Given the description of an element on the screen output the (x, y) to click on. 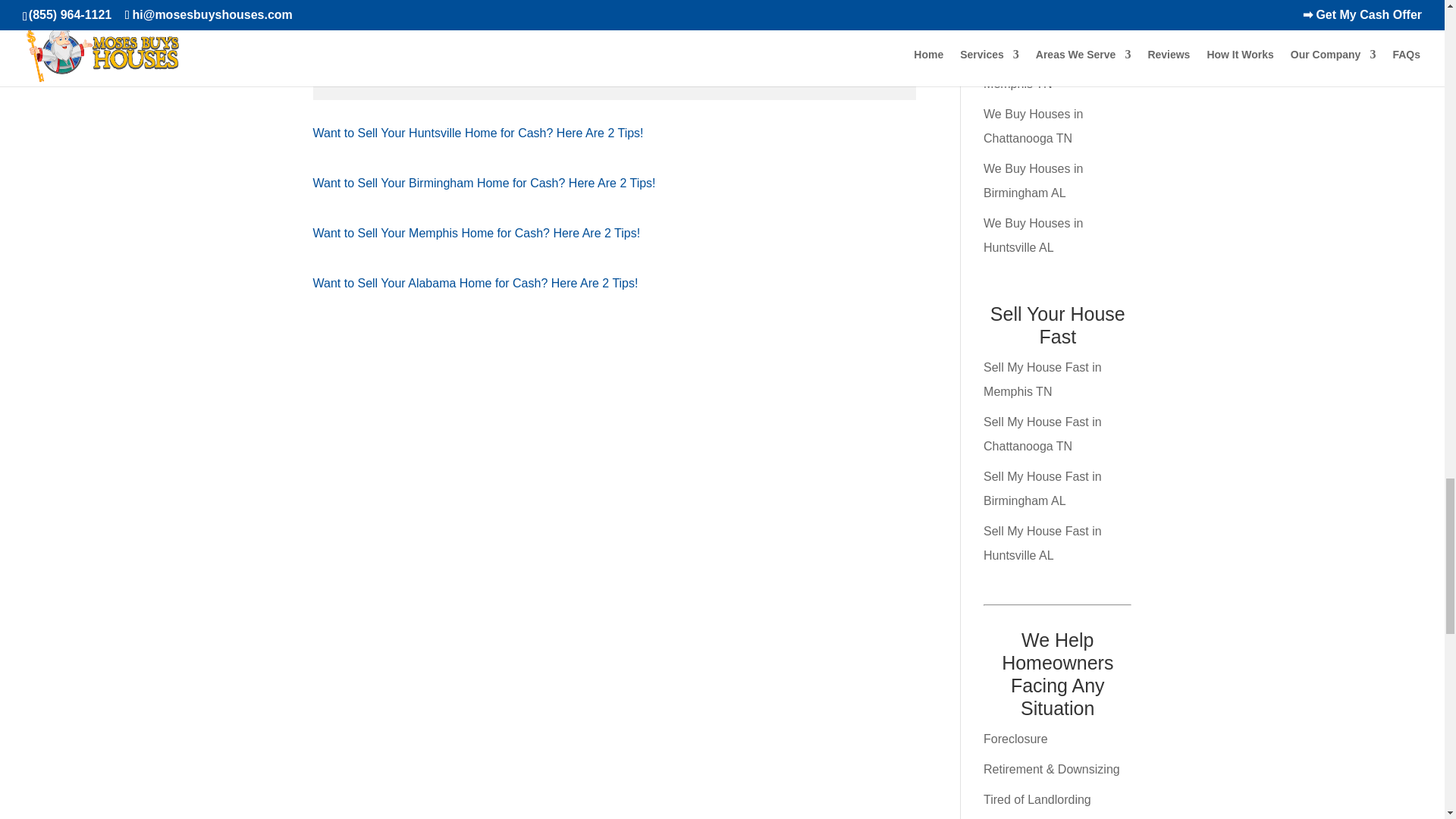
Want to Sell Your Birmingham Home for Cash? Here Are 2 Tips! (484, 182)
Want to Sell Your Huntsville Home for Cash? Here Are 2 Tips! (478, 132)
Want to Sell Your Memphis Home for Cash? Here Are 2 Tips! (476, 232)
Want to Sell Your Alabama Home for Cash? Here Are 2 Tips! (475, 282)
